Given the description of an element on the screen output the (x, y) to click on. 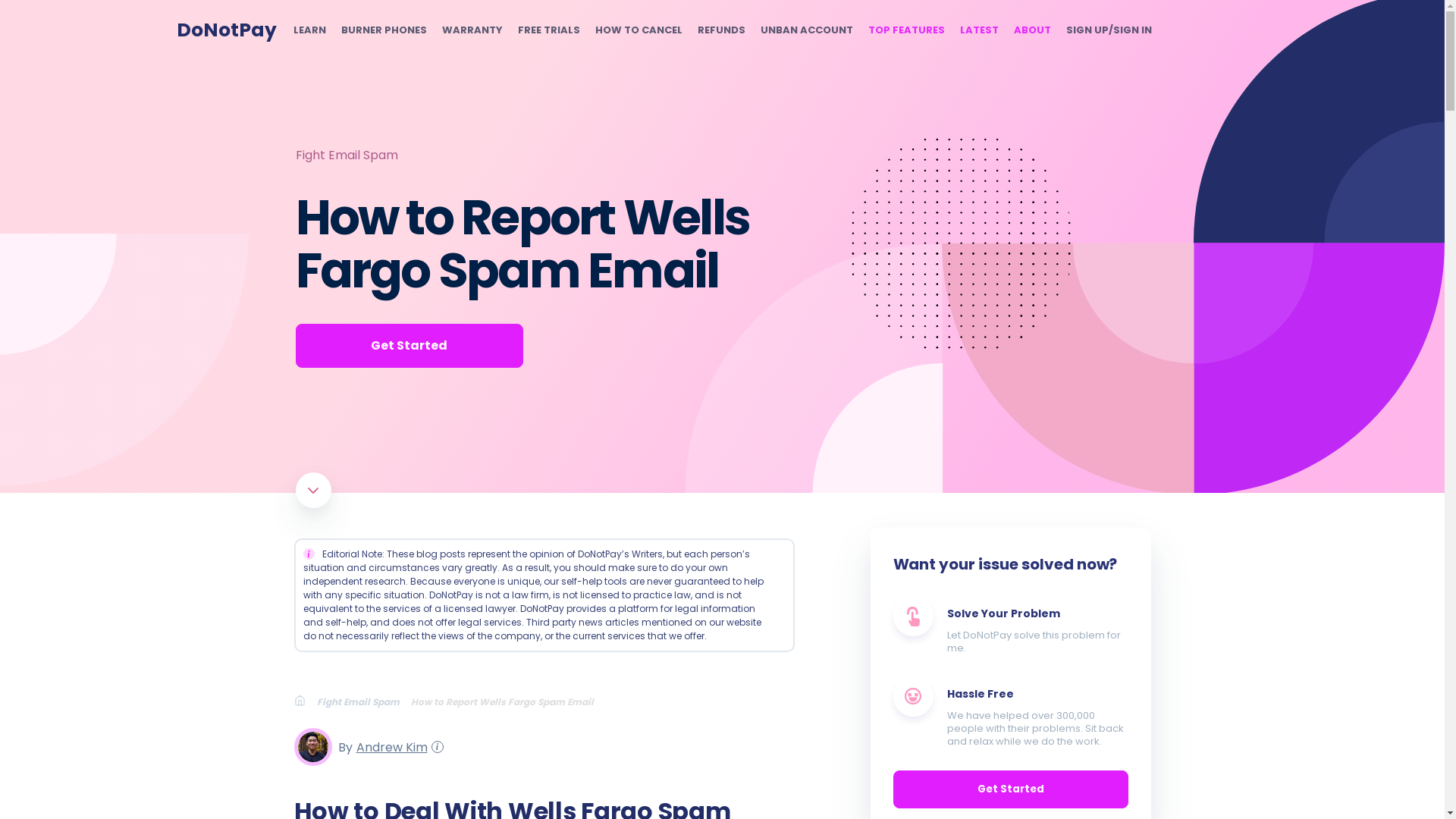
UNBAN ACCOUNT (805, 29)
Fight Email Spam (363, 700)
REFUNDS (721, 29)
DoNotPay (226, 29)
Andrew Kim (389, 746)
HOW TO CANCEL (637, 29)
LEARN (308, 29)
Get Started (408, 345)
TOP FEATURES (905, 29)
BURNER PHONES (383, 29)
